Given the description of an element on the screen output the (x, y) to click on. 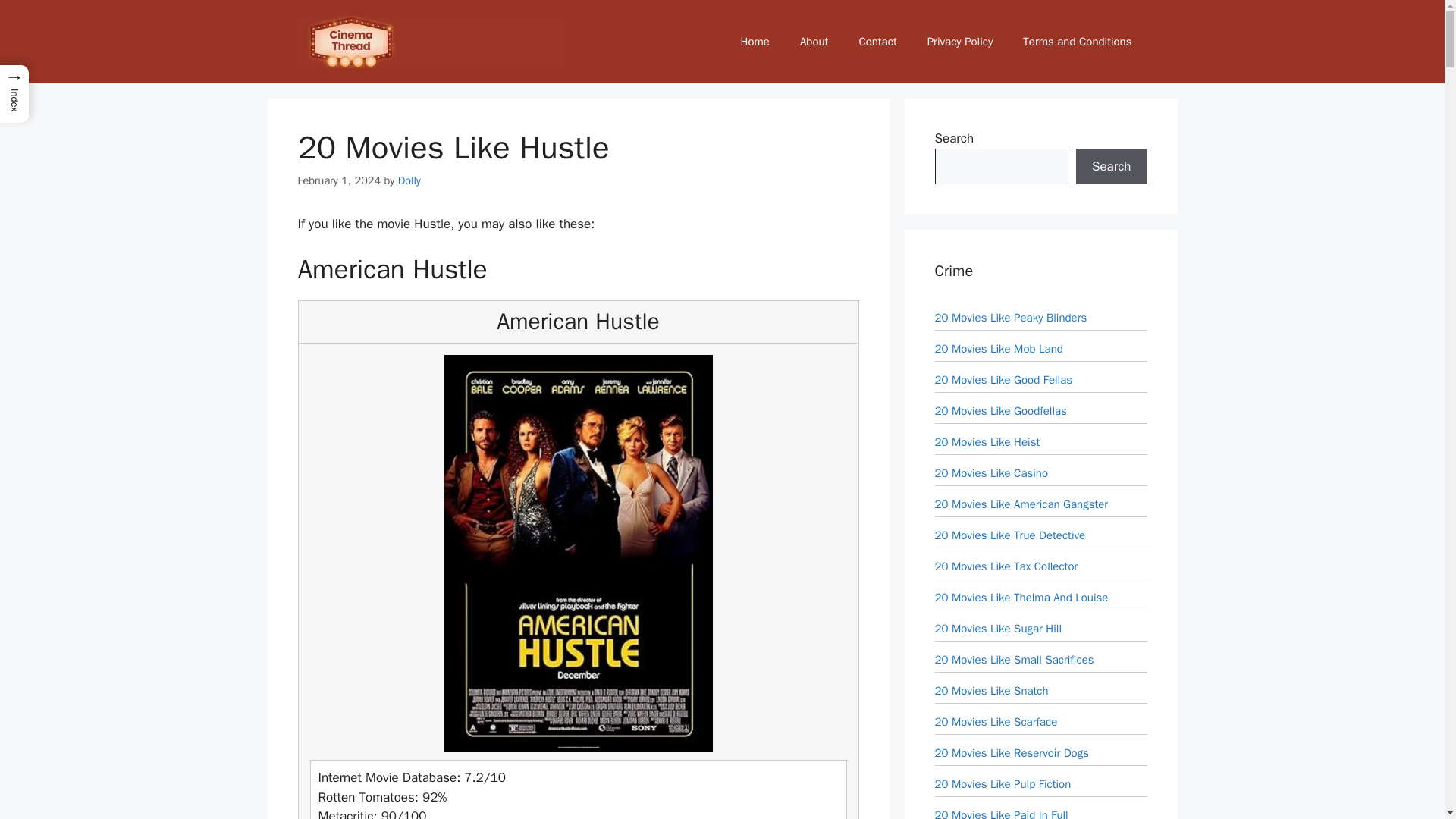
Dolly (408, 180)
Contact (877, 41)
Terms and Conditions (1077, 41)
Privacy Policy (960, 41)
About (813, 41)
Home (754, 41)
View all posts by Dolly (408, 180)
